Given the description of an element on the screen output the (x, y) to click on. 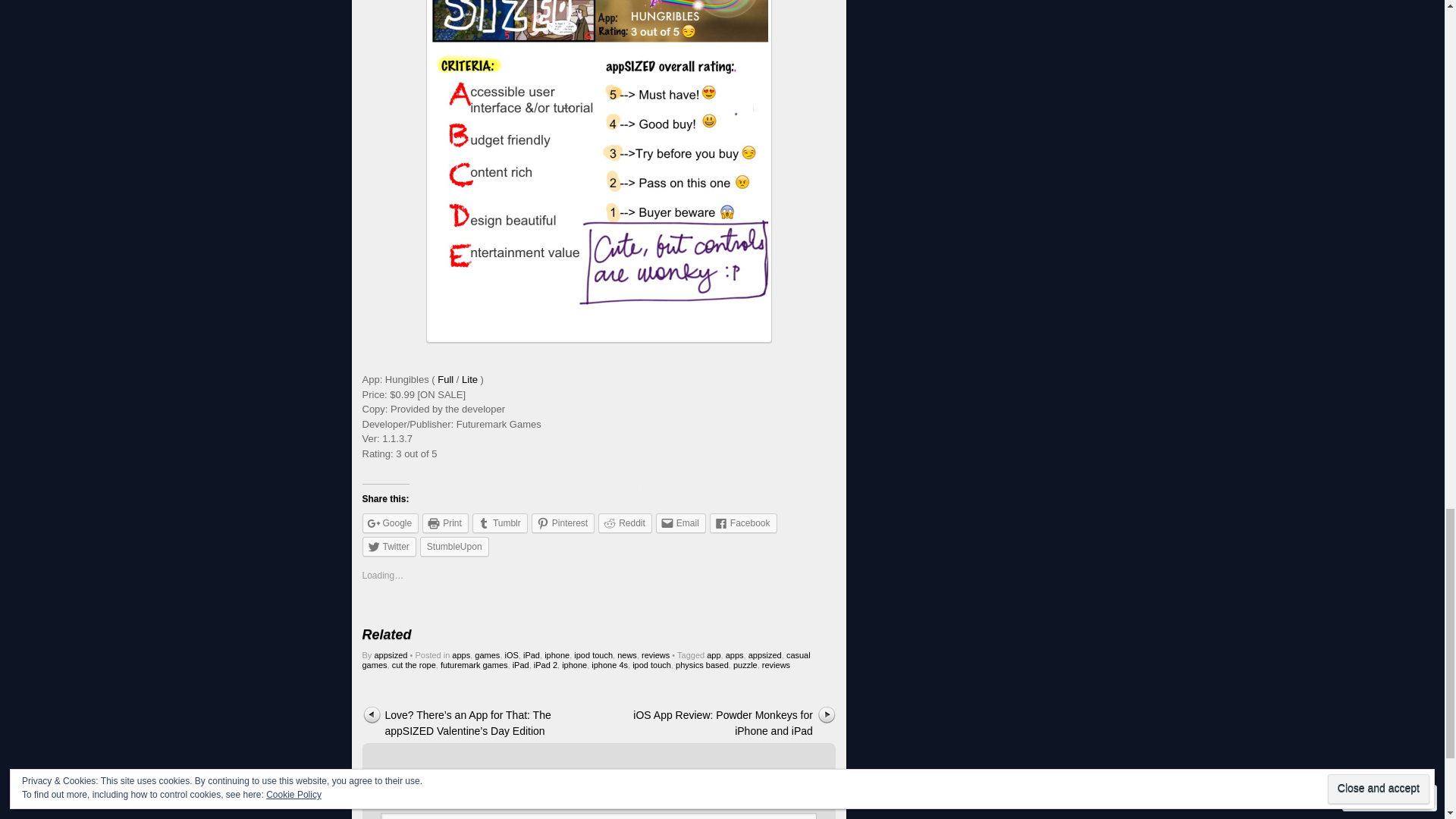
Hungribles free (469, 378)
Click to share on Pinterest (562, 523)
Twitter (389, 546)
Full (445, 378)
Print (445, 523)
Google (390, 523)
Hungribles full on appSIZED (445, 378)
Pinterest (562, 523)
Tumblr (499, 523)
About these ads (659, 486)
